Given the description of an element on the screen output the (x, y) to click on. 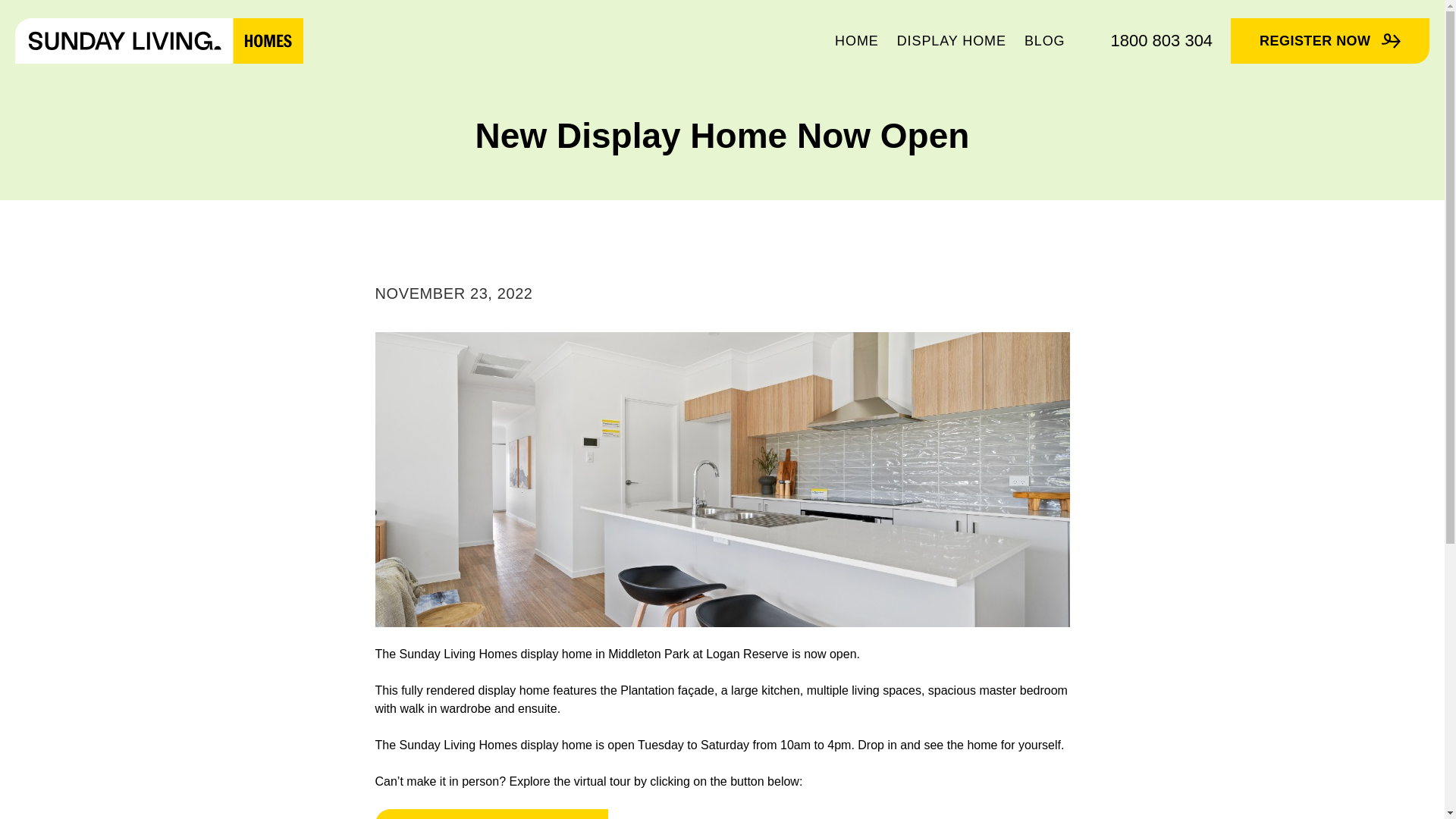
VIEW VIRTUAL TOUR (490, 814)
1800 803 304 (1161, 40)
REGISTER NOW (1329, 40)
BLOG (1044, 41)
DISPLAY HOME (951, 41)
HOME (856, 41)
